Given the description of an element on the screen output the (x, y) to click on. 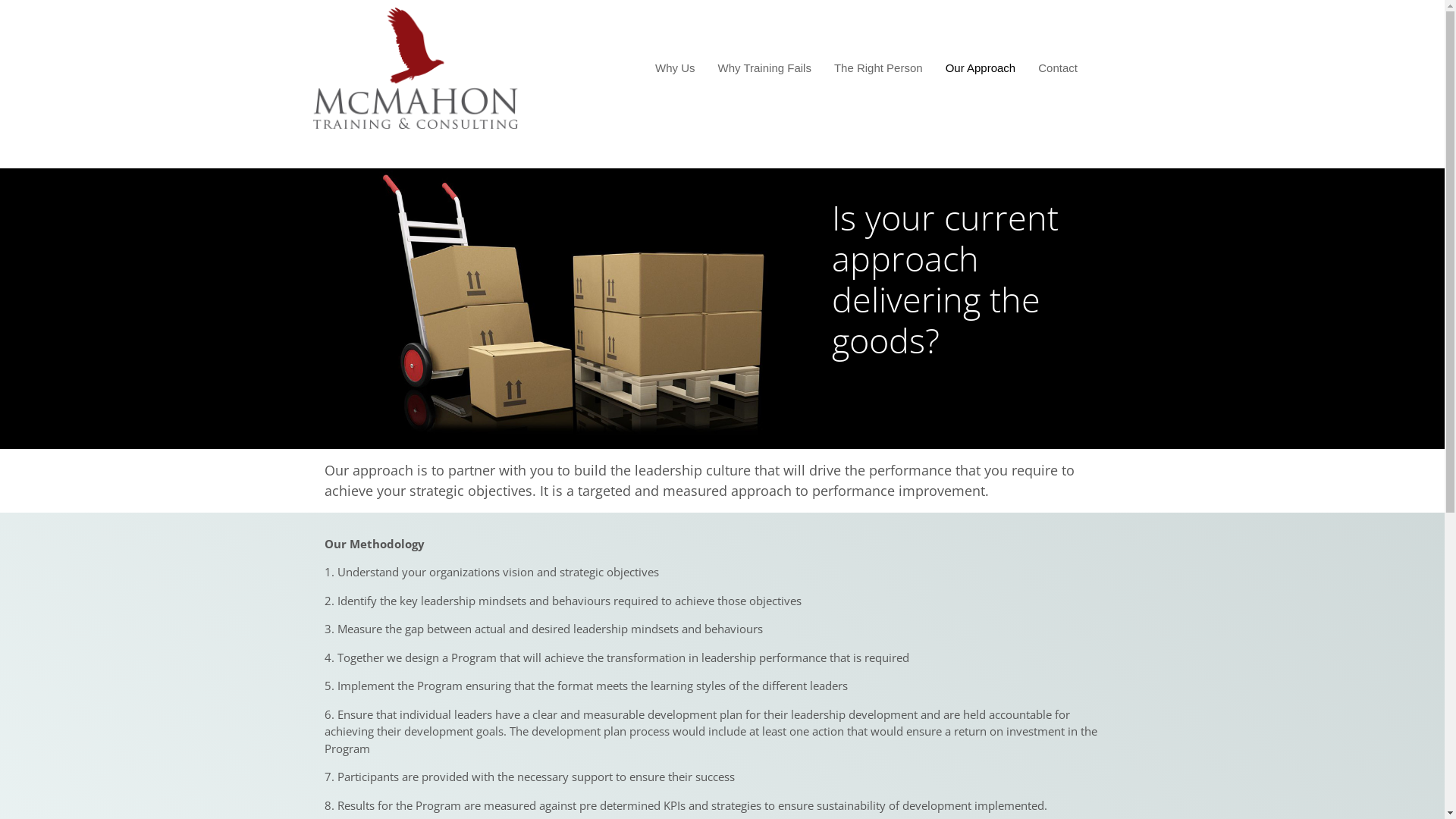
Contact Element type: text (1057, 68)
Why Training Fails Element type: text (764, 68)
leadership training that works Element type: hover (414, 120)
Why Us Element type: text (674, 68)
The Right Person Element type: text (878, 68)
Our Approach Element type: text (980, 68)
